Given the description of an element on the screen output the (x, y) to click on. 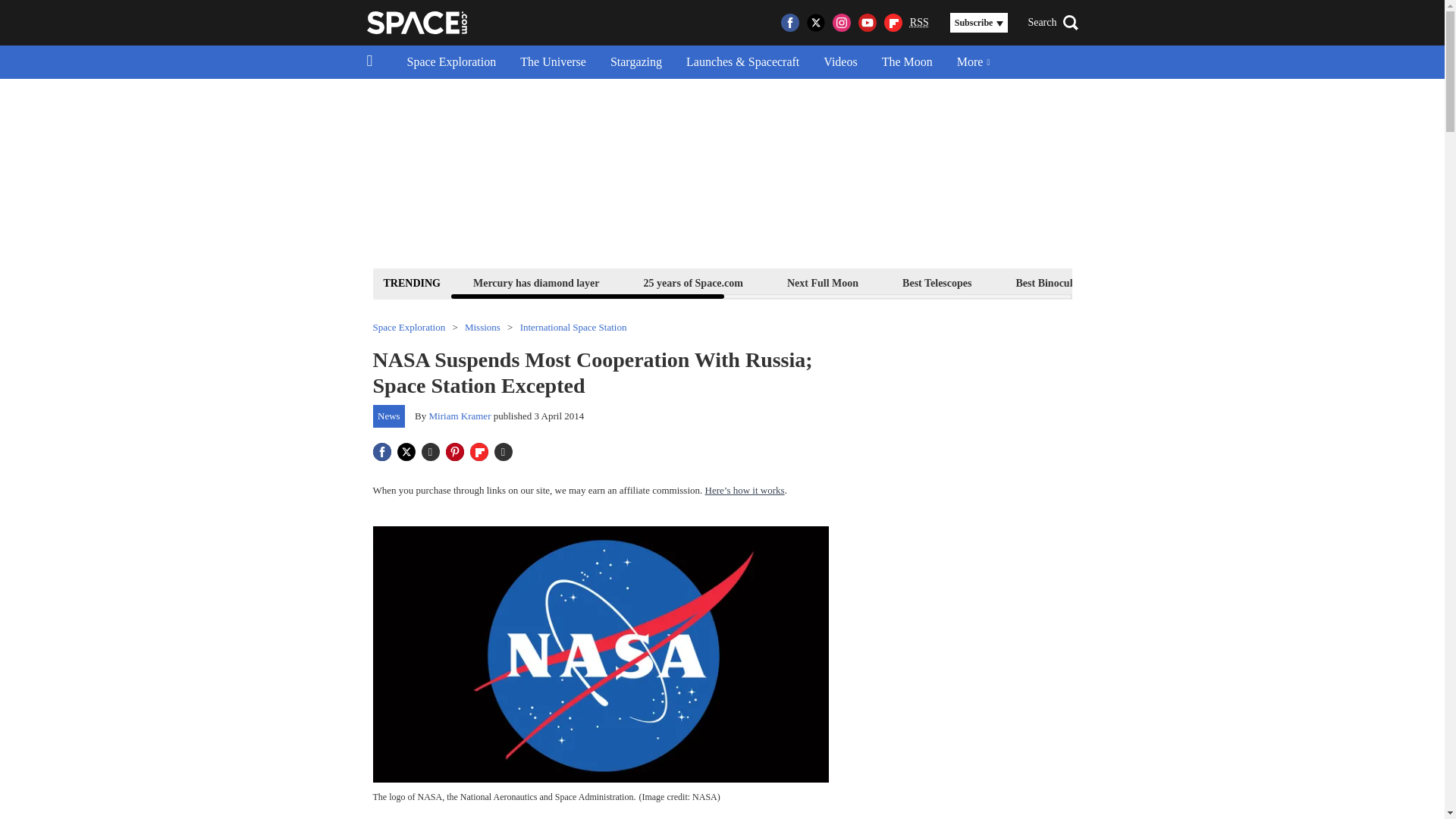
Videos (839, 61)
RSS (919, 22)
Really Simple Syndication (919, 21)
Mercury has diamond layer (536, 282)
The Moon (906, 61)
Space Calendar (1301, 282)
Space Exploration (451, 61)
Best Binoculars (1051, 282)
The Universe (553, 61)
Best Star Projectors (1176, 282)
Best Telescopes (936, 282)
25 years of Space.com (693, 282)
Next Full Moon (822, 282)
Stargazing (636, 61)
